Given the description of an element on the screen output the (x, y) to click on. 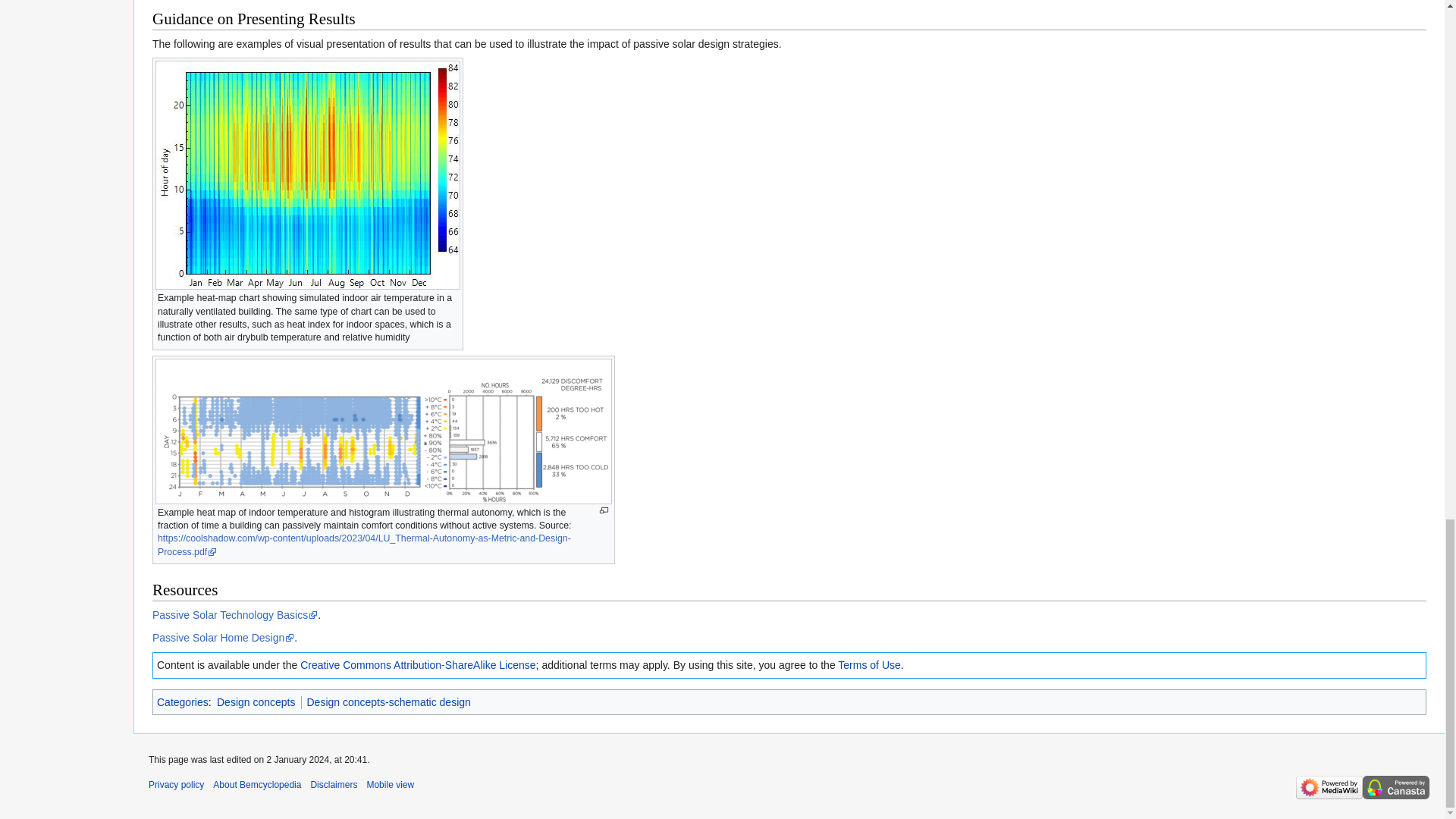
Enlarge (604, 510)
Passive Solar Technology Basics (234, 614)
Passive Solar Home Design (223, 637)
